Given the description of an element on the screen output the (x, y) to click on. 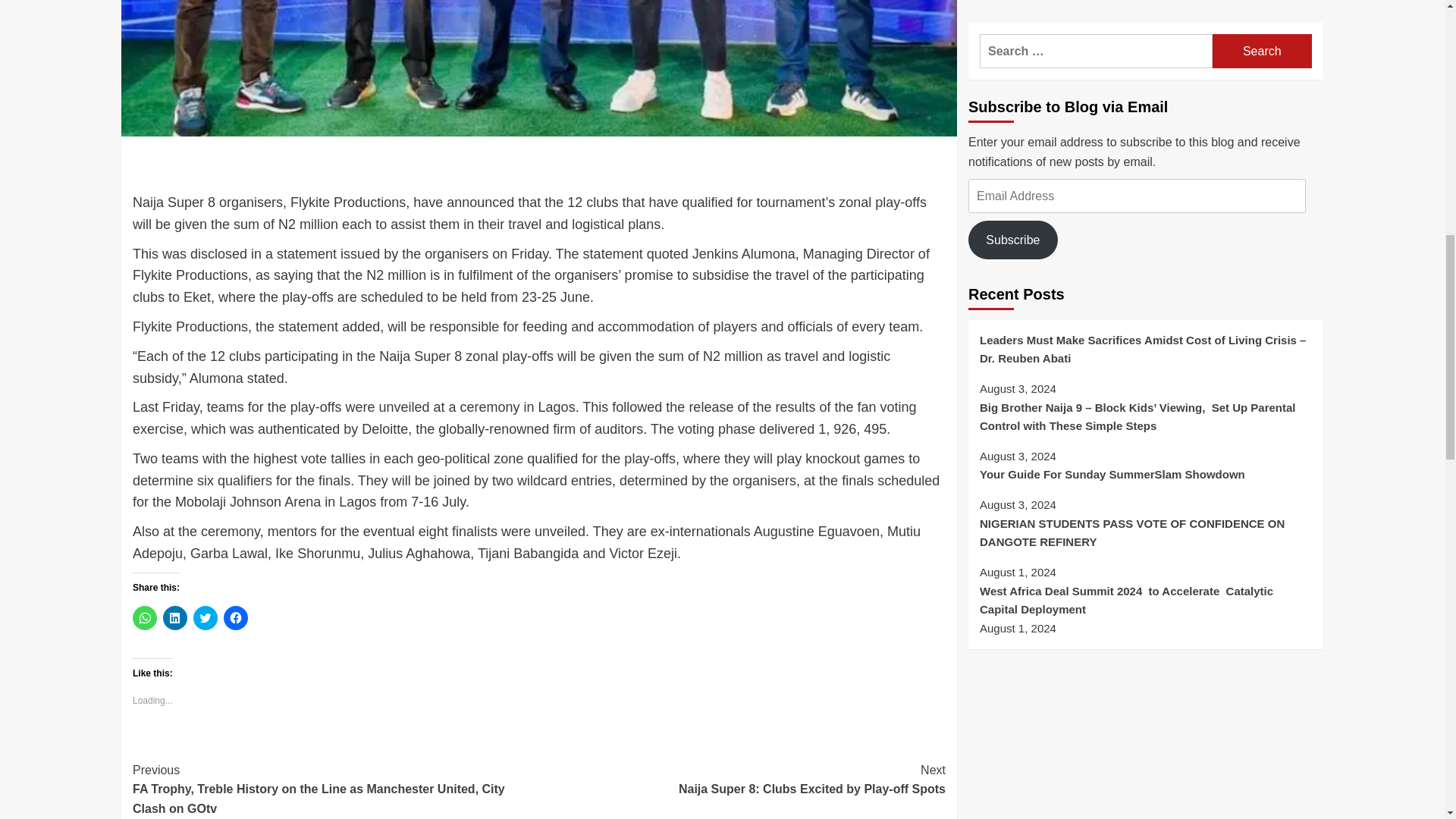
Click to share on LinkedIn (175, 617)
Click to share on Facebook (235, 617)
Click to share on WhatsApp (741, 779)
Click to share on Twitter (144, 617)
